Given the description of an element on the screen output the (x, y) to click on. 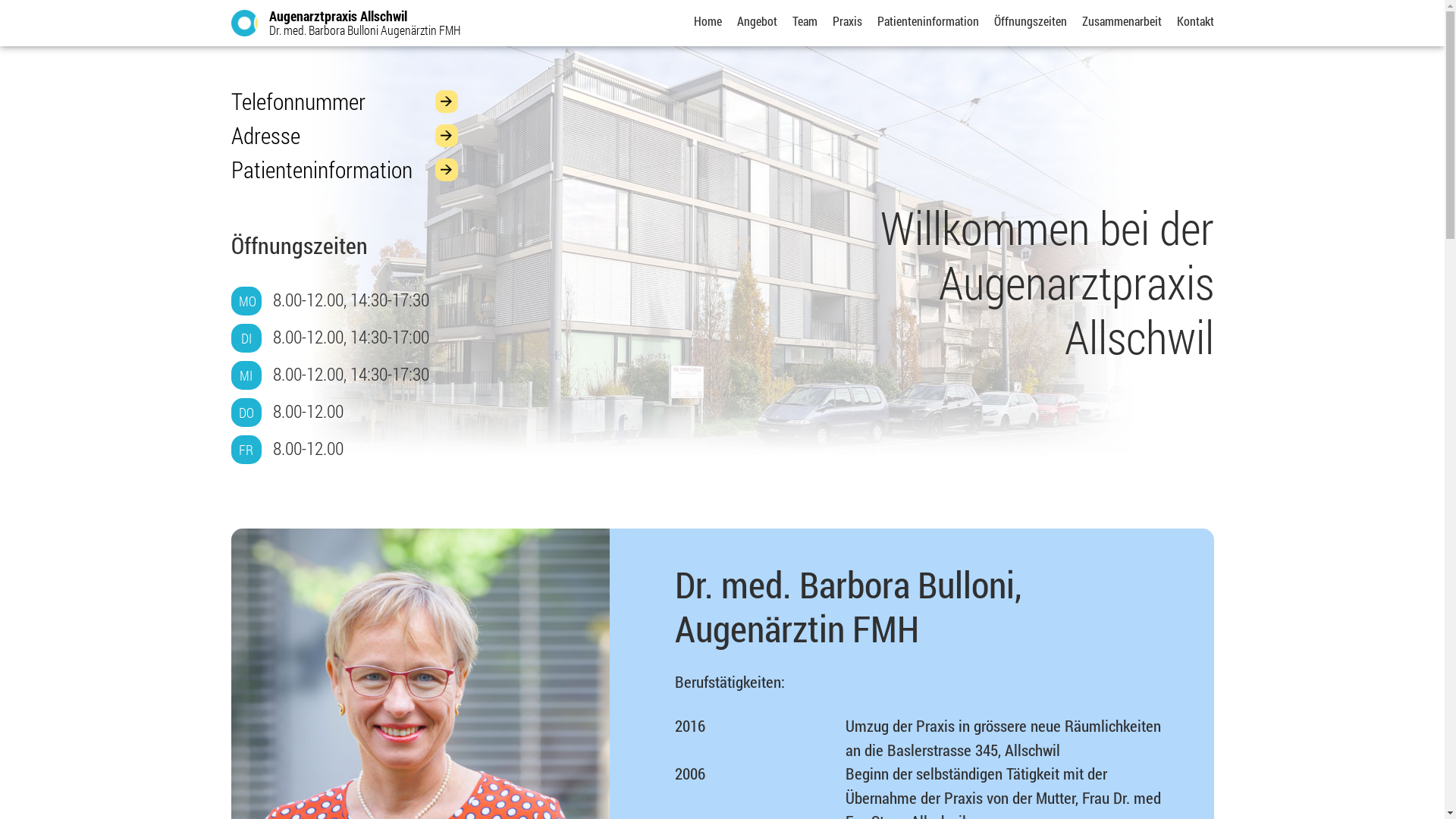
Patienteninformation Element type: text (343, 169)
Telefonnummer Element type: text (343, 101)
Team Element type: text (803, 21)
Home Element type: text (707, 21)
Zusammenarbeit Element type: text (1121, 21)
Kontakt Element type: text (1195, 21)
Praxis Element type: text (847, 21)
Angebot Element type: text (757, 21)
Adresse Element type: text (343, 135)
Patienteninformation Element type: text (927, 21)
